Given the description of an element on the screen output the (x, y) to click on. 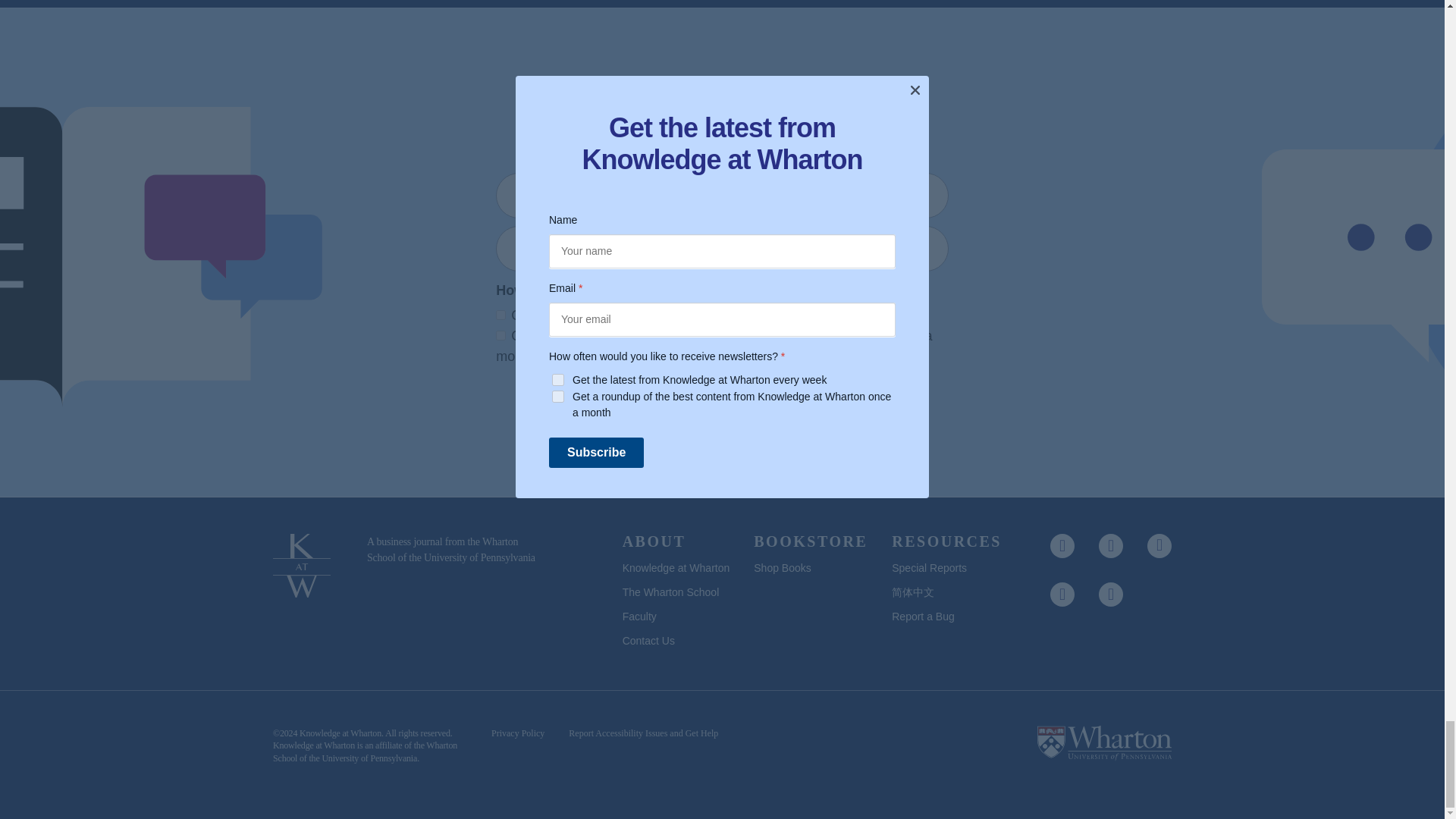
Knowledge at Wharton (314, 745)
Knowledge at Wharton (340, 733)
6836382 (500, 315)
6825401 (500, 335)
